Given the description of an element on the screen output the (x, y) to click on. 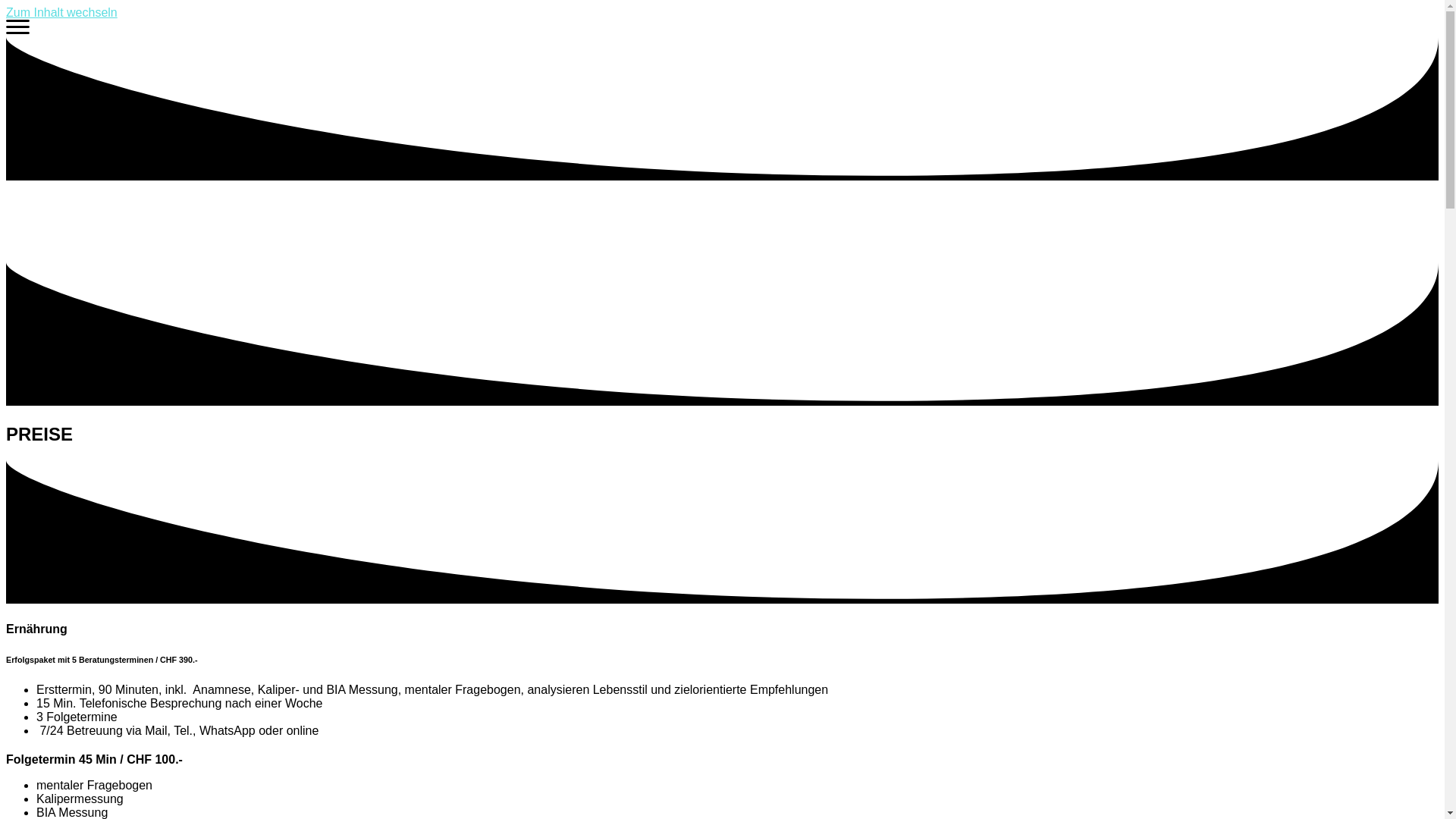
Zum Inhalt wechseln Element type: text (61, 12)
logo_br_500 Element type: hover (101, 221)
Me Element type: text (17, 29)
